Given the description of an element on the screen output the (x, y) to click on. 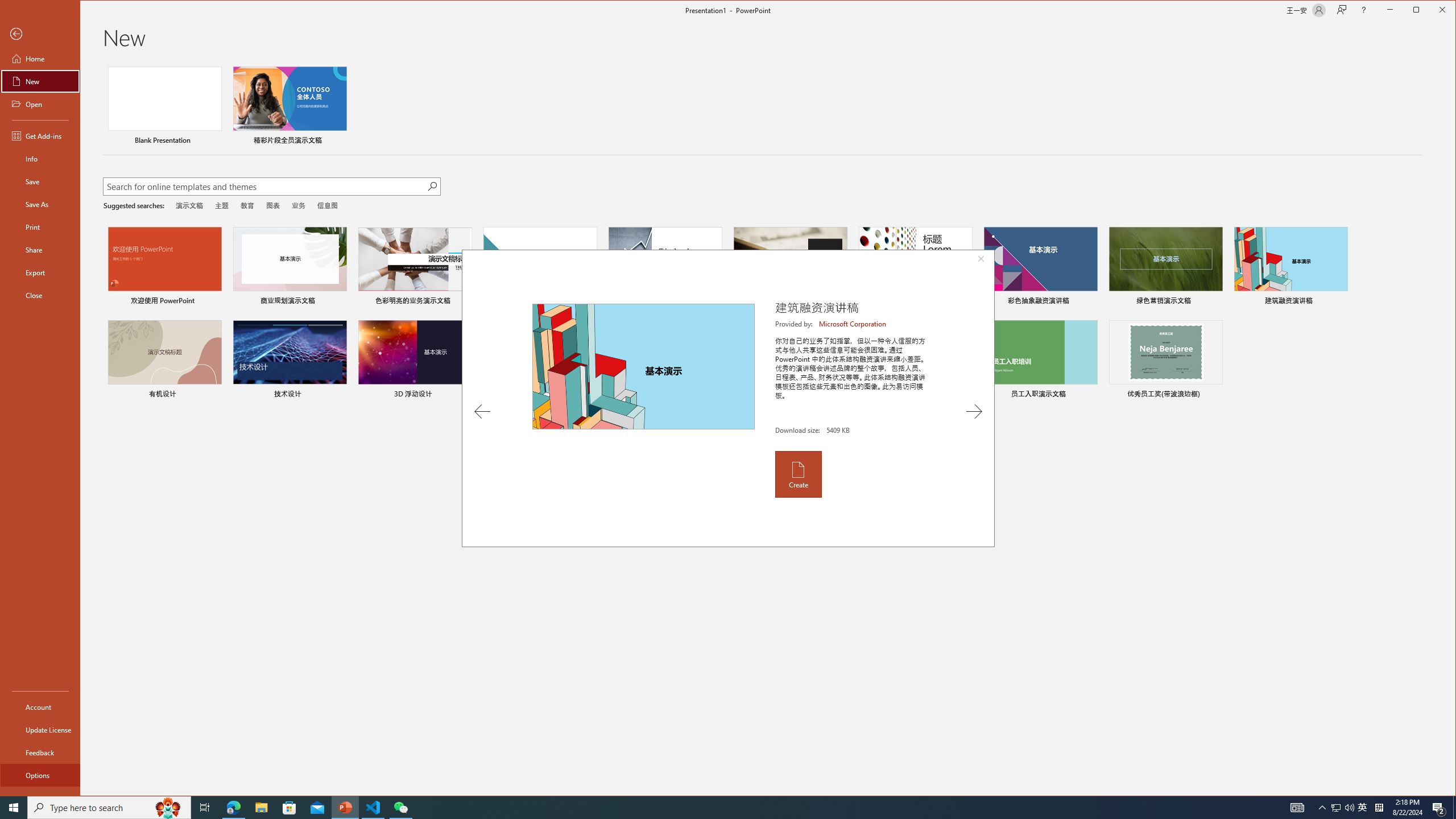
Previous Template (481, 411)
Running applications (707, 807)
Get Add-ins (40, 135)
Class: NetUIScrollBar (1450, 428)
